Given the description of an element on the screen output the (x, y) to click on. 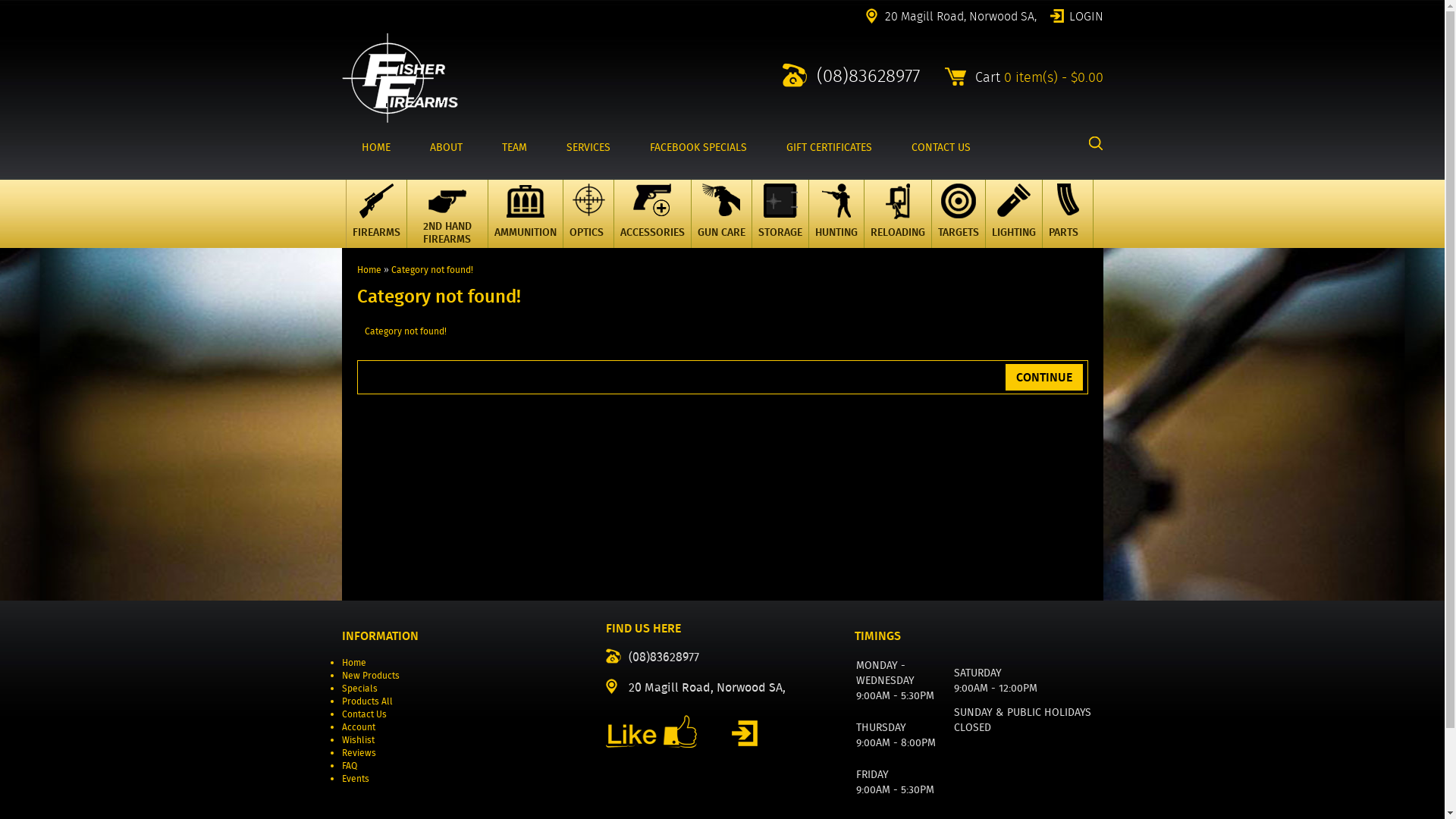
FIREARMS Element type: text (376, 213)
Hunting Element type: hover (836, 223)
TARGETS Element type: text (958, 213)
(08)83628977 Element type: text (651, 655)
GUN CARE Element type: text (720, 213)
Wishlist Element type: text (357, 739)
SERVICES Element type: text (587, 147)
Events Element type: text (354, 777)
FACEBOOK SPECIALS Element type: text (697, 147)
GIFT CERTIFICATES Element type: text (828, 147)
2ND HAND FIREARMS Element type: text (447, 213)
STORAGE Element type: text (779, 213)
CONTACT US Element type: text (940, 147)
LIGHTING Element type: text (1012, 213)
PARTS Element type: text (1067, 213)
Home Element type: text (368, 269)
Firearms Element type: hover (376, 223)
Account Element type: text (357, 726)
Contact Us Element type: text (363, 713)
Parts Element type: hover (1066, 223)
ABOUT Element type: text (445, 147)
Fisher Firearms Element type: hover (399, 77)
0 item(s) - $0.00 Element type: text (1053, 77)
Accessories Element type: hover (652, 223)
AMMUNITION Element type: text (524, 213)
CONTINUE Element type: text (1043, 377)
Home Element type: text (353, 661)
LOGIN Element type: text (1075, 14)
Targets Element type: hover (957, 223)
2nd Hand Firearms Element type: hover (446, 223)
Rifles, Tikka T3, Used Guns For Sale - Adelaide Gun Shop. Element type: hover (399, 118)
Login Element type: hover (743, 733)
Products All Element type: text (366, 700)
(08)83628977 Element type: text (850, 74)
HUNTING Element type: text (836, 213)
FAQ Element type: text (348, 765)
Reviews Element type: text (358, 752)
HOME Element type: text (375, 147)
ACCESSORIES Element type: text (651, 213)
OPTICS Element type: text (588, 213)
Category not found! Element type: text (432, 269)
Specials Element type: text (358, 687)
RELOADING Element type: text (897, 213)
Reloading Element type: hover (897, 223)
Ammunition Element type: hover (525, 223)
Optics Element type: hover (587, 223)
Lighting Element type: hover (1013, 223)
Gun Care Element type: hover (721, 223)
TEAM Element type: text (514, 147)
New Products Element type: text (369, 674)
Storage Element type: hover (780, 223)
